Given the description of an element on the screen output the (x, y) to click on. 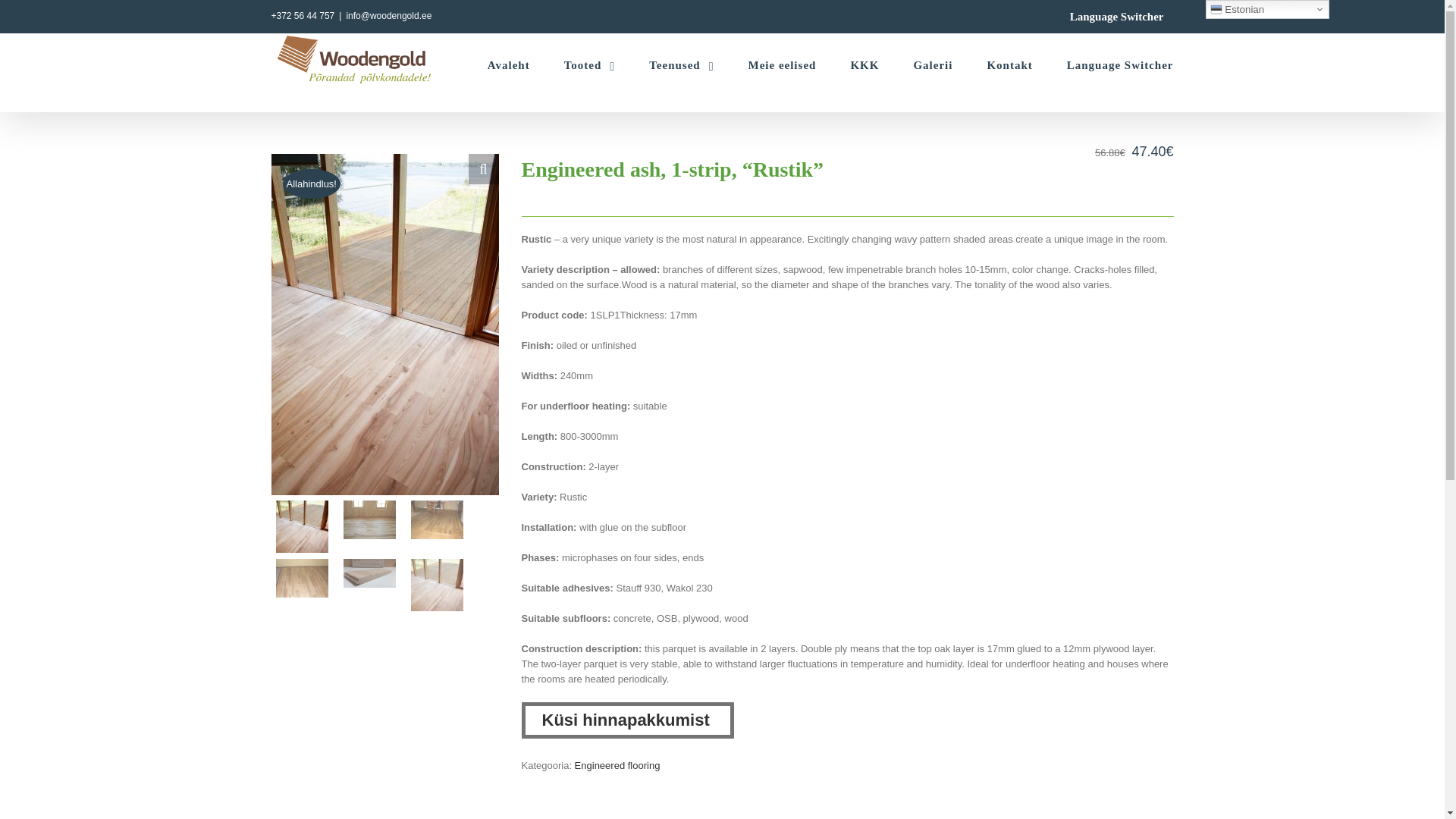
Language Switcher (1120, 63)
Language Switcher (1116, 16)
Teenused (681, 63)
Meie eelised (781, 63)
